Given the description of an element on the screen output the (x, y) to click on. 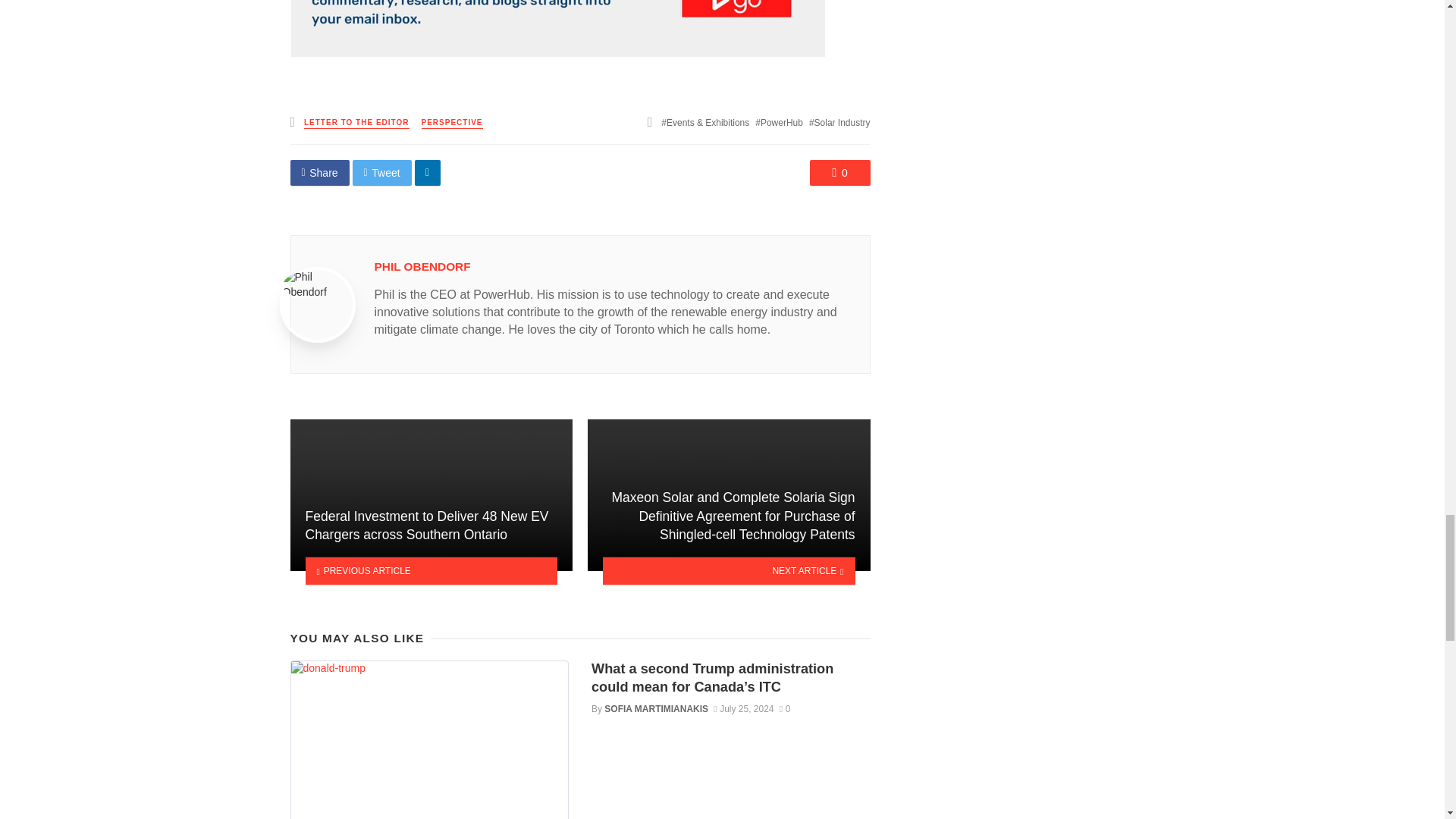
Share on Linkedin (427, 172)
Share on Twitter (382, 172)
Share on Facebook (319, 172)
0 Comments (839, 172)
